Given the description of an element on the screen output the (x, y) to click on. 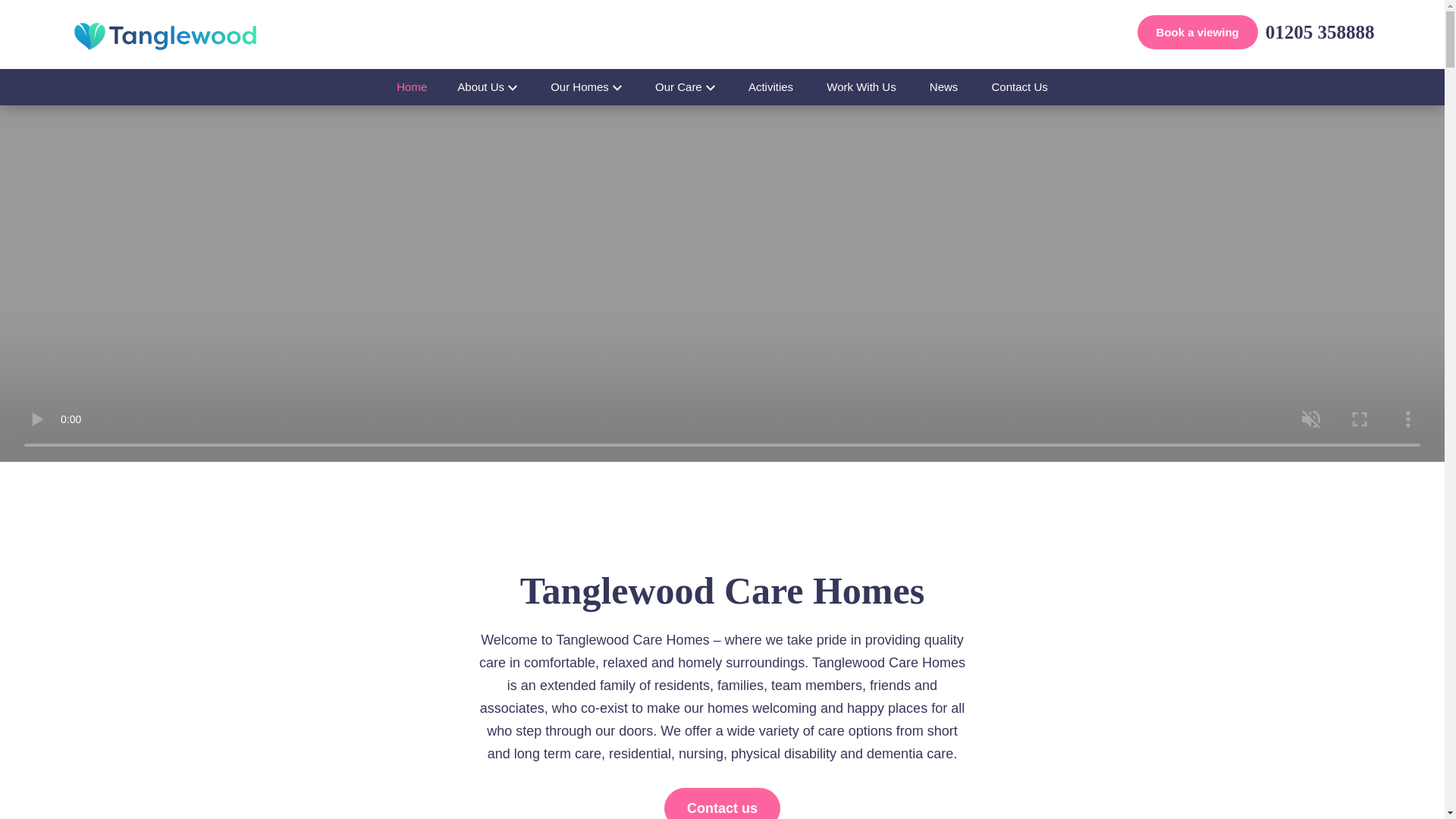
Book a viewing (1197, 32)
01205 358888 (1319, 31)
